Given the description of an element on the screen output the (x, y) to click on. 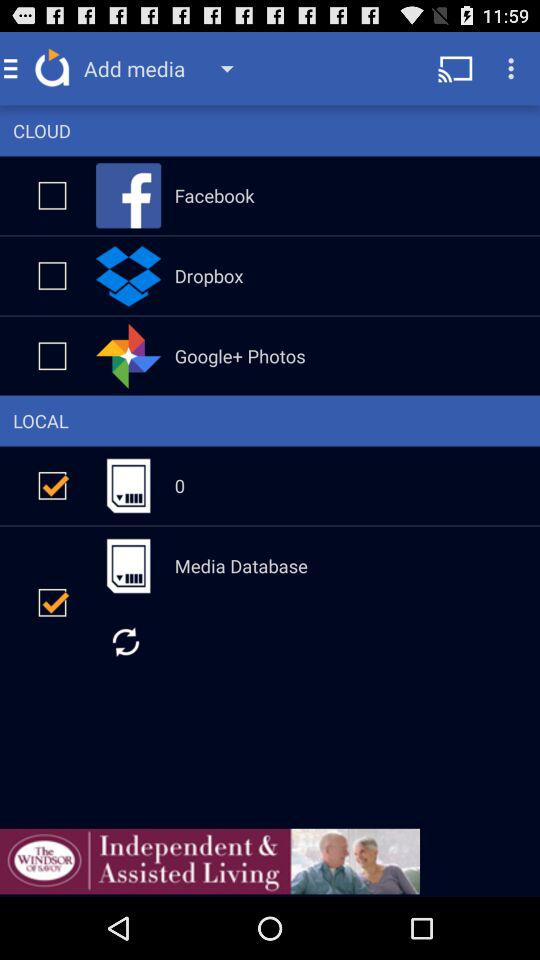
add selection (52, 195)
